Given the description of an element on the screen output the (x, y) to click on. 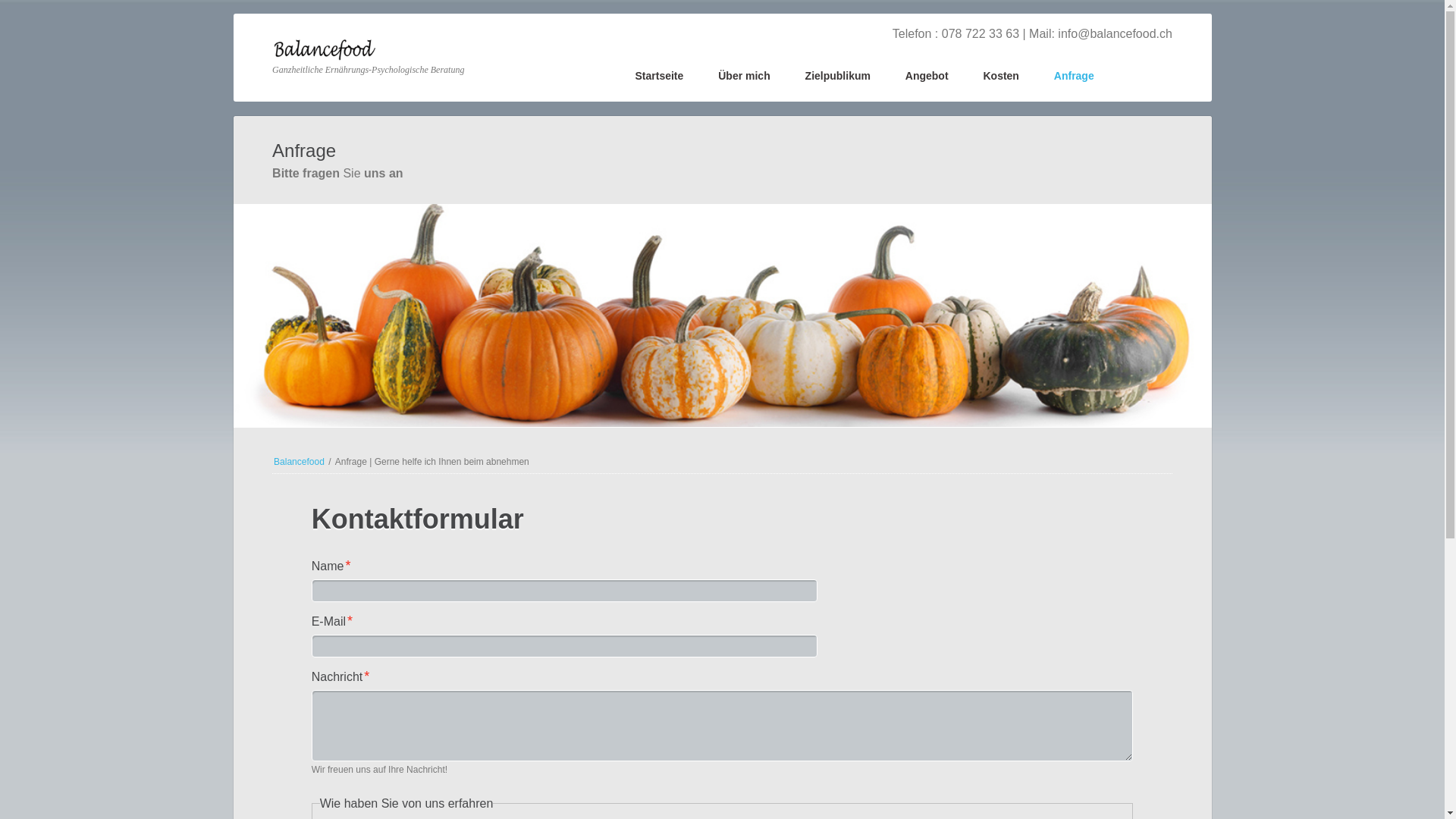
Balancefood Element type: text (298, 461)
Kosten Element type: text (1000, 77)
Zielpublikum Element type: text (837, 77)
Angebot Element type: text (926, 77)
Startseite Element type: text (659, 77)
Anfrage Element type: text (1073, 77)
  Element type: text (1093, 61)
